Given the description of an element on the screen output the (x, y) to click on. 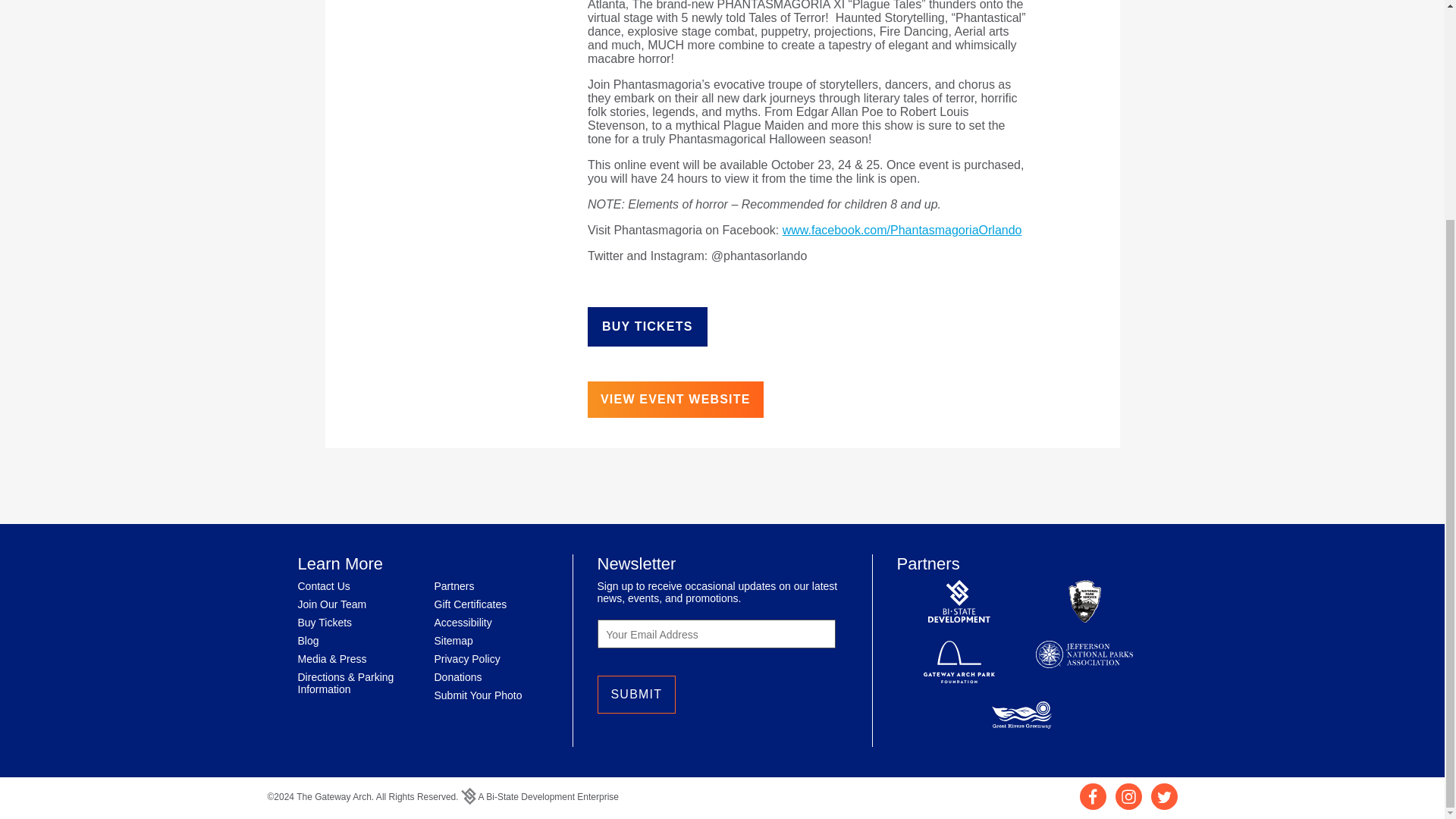
National Park Service (1083, 602)
Jefferson National Parks Association (1083, 663)
Bi-State Development (959, 602)
Blog (307, 640)
Twitter (1164, 805)
Submit (636, 694)
Great Rivers Greenway (1021, 716)
Contact Us (323, 585)
Facebook (1093, 805)
Instagram (1128, 805)
BUY TICKETS (647, 326)
Gateway Arch Park Foundation (959, 663)
Buy Tickets (324, 622)
VIEW EVENT WEBSITE (675, 399)
Join Our Team (331, 604)
